Given the description of an element on the screen output the (x, y) to click on. 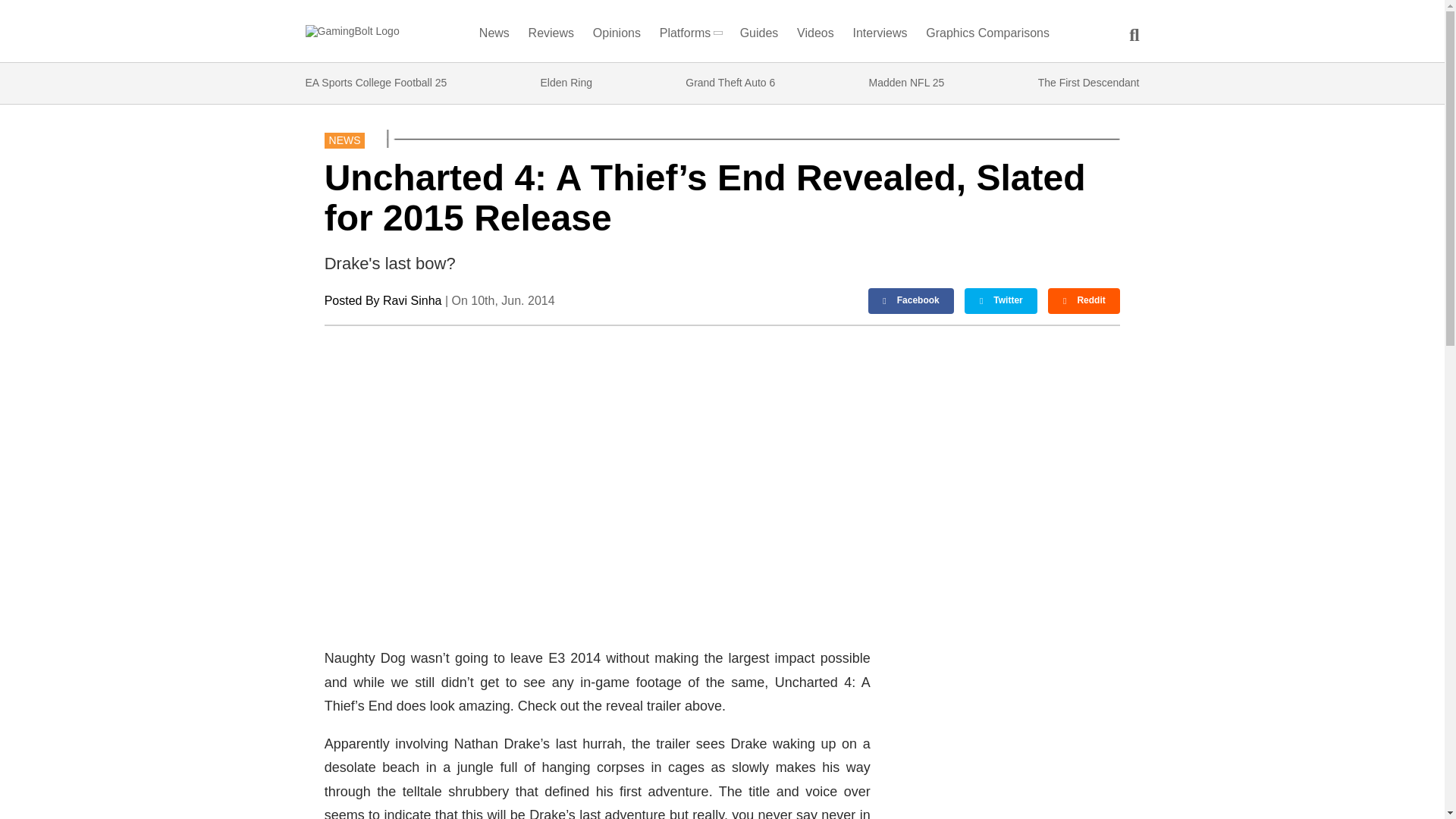
The First Descendant (1089, 82)
Madden NFL 25 (906, 82)
Twitter (999, 300)
Reddit (1083, 300)
Videos (815, 36)
News (494, 36)
Reviews (551, 36)
Facebook (911, 300)
EA Sports College Football 25 (375, 82)
Platforms (690, 36)
Graphics Comparisons (986, 36)
Interviews (879, 36)
NEWS (345, 140)
Ravi Sinha (411, 300)
Grand Theft Auto 6 (729, 82)
